Given the description of an element on the screen output the (x, y) to click on. 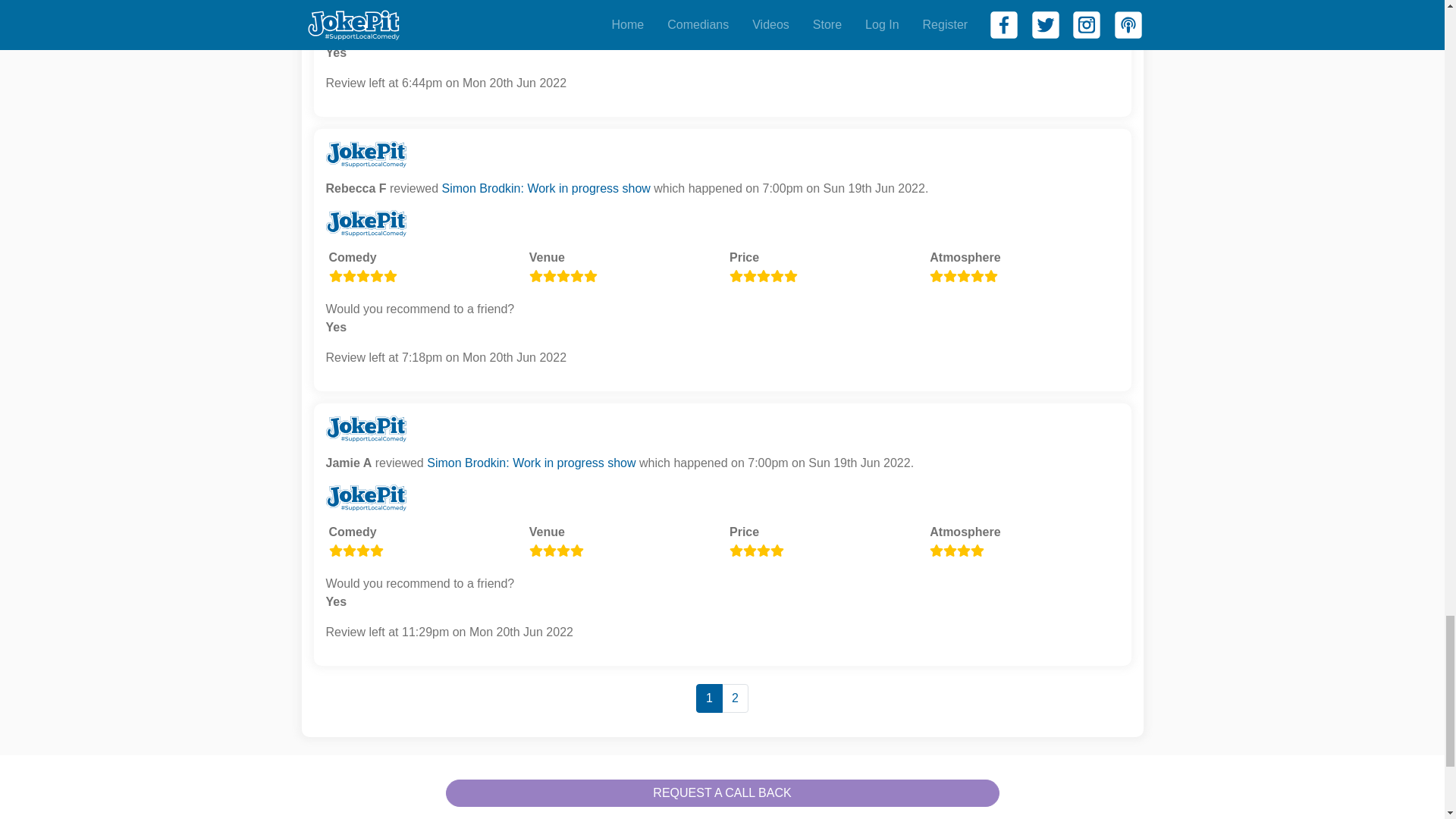
2 (735, 697)
Simon Brodkin: Work in progress show (530, 462)
Simon Brodkin: Work in progress show (545, 187)
REQUEST A CALL BACK (721, 792)
1 (708, 697)
